Given the description of an element on the screen output the (x, y) to click on. 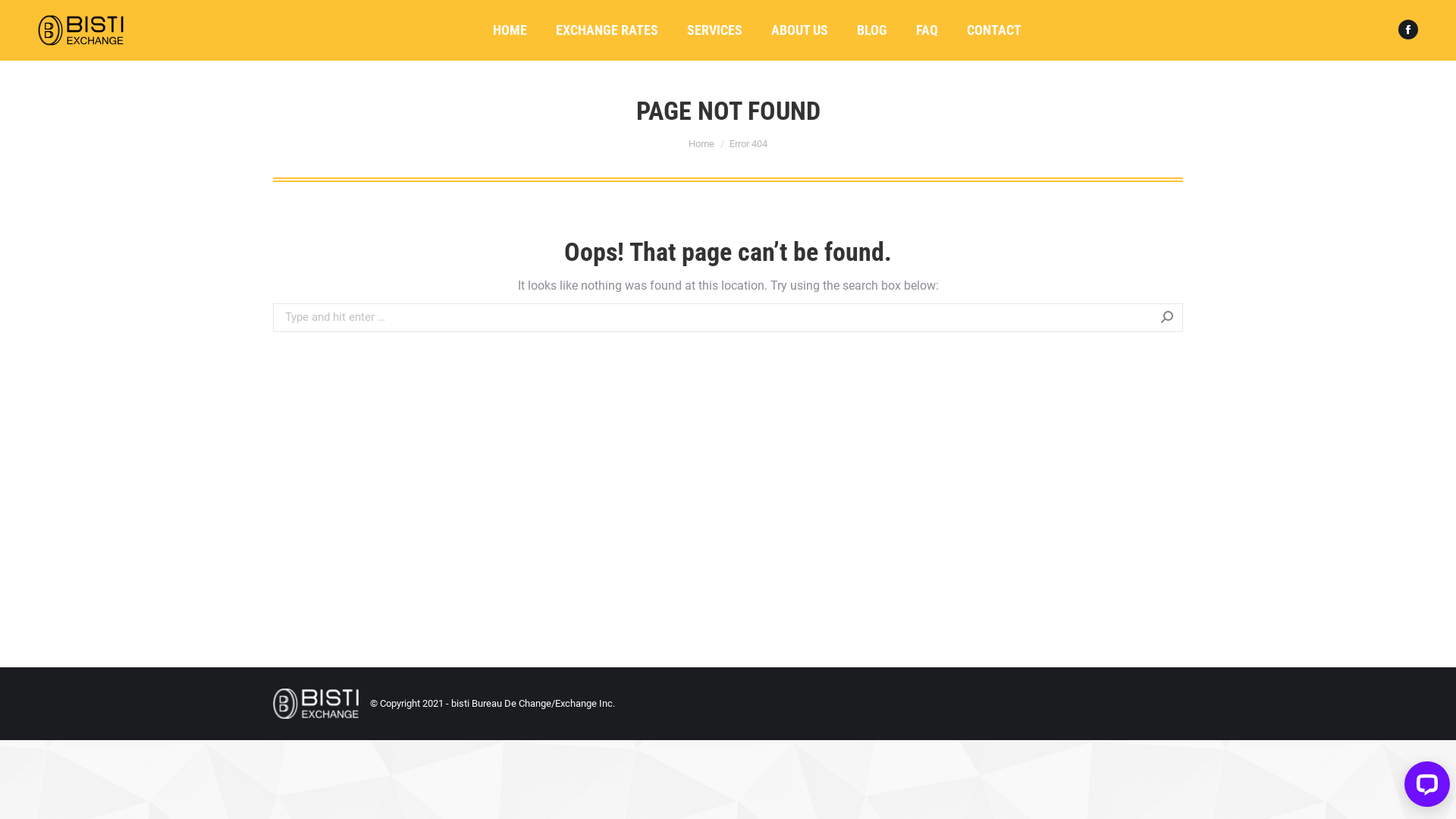
EXCHANGE RATES Element type: text (606, 29)
Home Element type: text (701, 143)
CONTACT Element type: text (994, 29)
FAQ Element type: text (926, 29)
Go! Element type: text (1205, 320)
ABOUT US Element type: text (799, 29)
BLOG Element type: text (871, 29)
HOME Element type: text (509, 29)
Facebook page opens in new window Element type: text (1408, 29)
SERVICES Element type: text (714, 29)
